Given the description of an element on the screen output the (x, y) to click on. 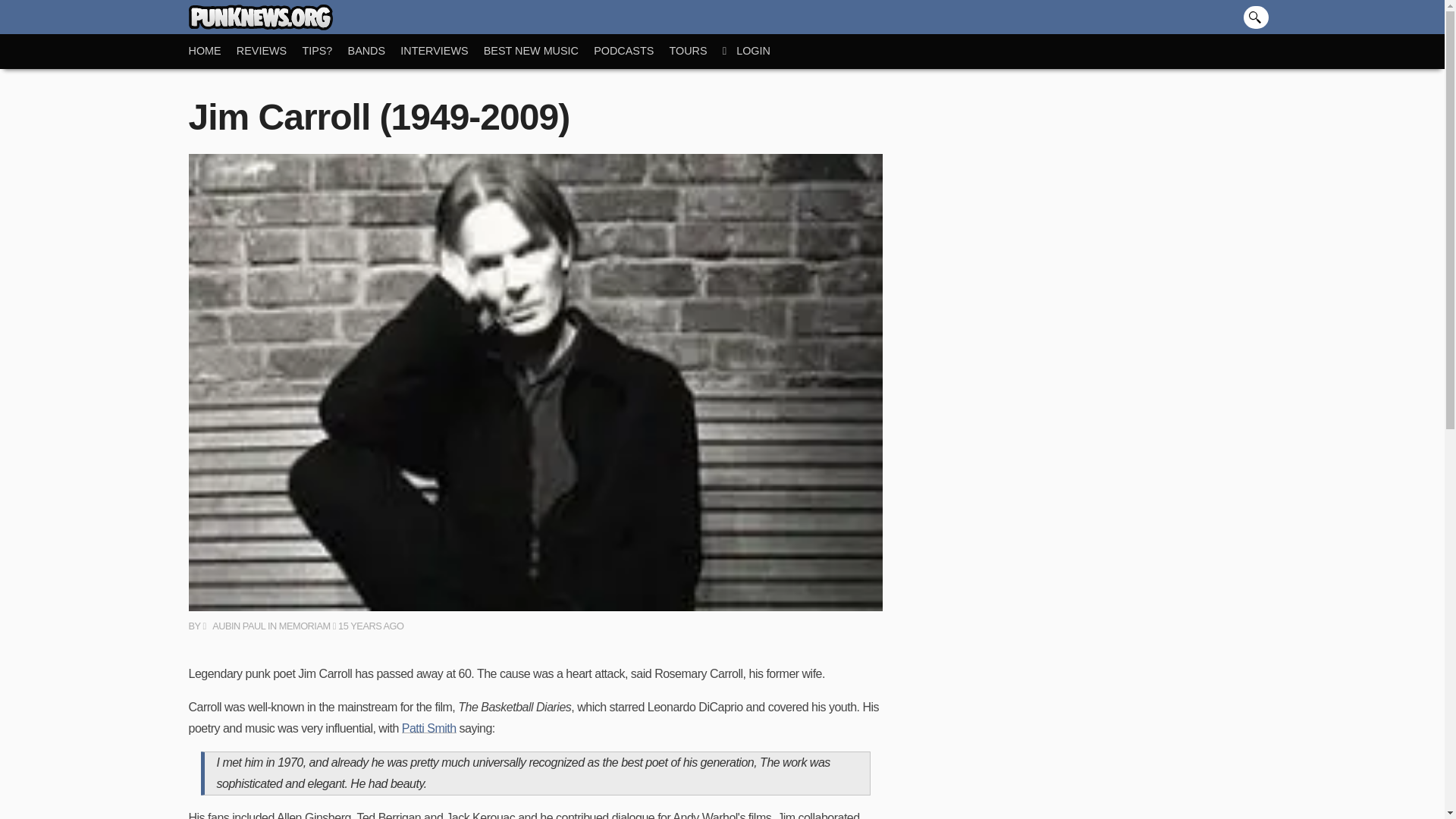
REVIEWS (268, 50)
IN MEMORIAM (298, 625)
Return to Home Page (211, 50)
Best New Music (538, 50)
HOME (211, 50)
Your Account (754, 50)
AUBIN PAUL (233, 625)
PODCASTS (631, 50)
Check out some new music reviews (268, 50)
LOGIN (754, 50)
